Given the description of an element on the screen output the (x, y) to click on. 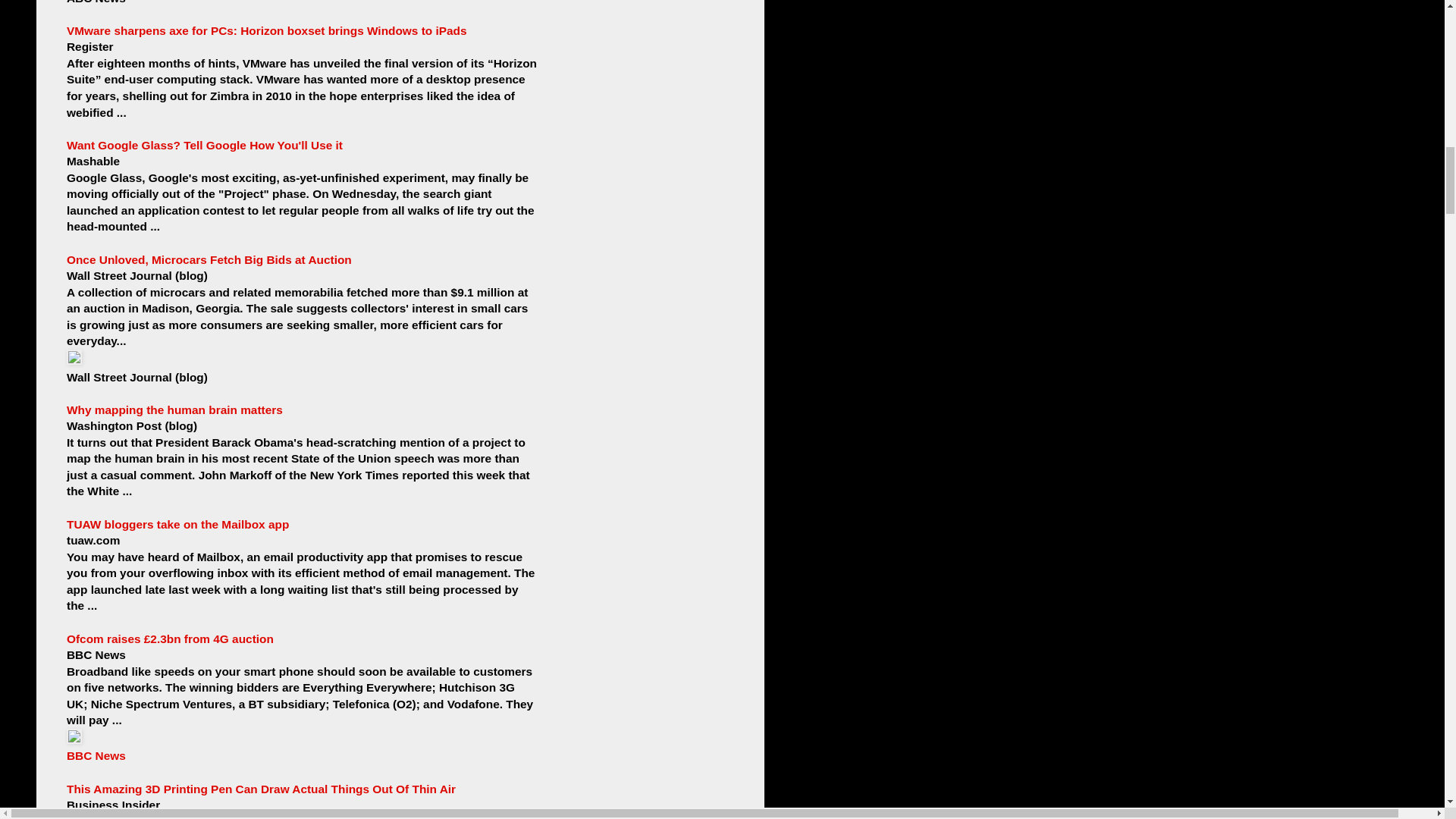
Want Google Glass? Tell Google How You'll Use it (204, 144)
TUAW bloggers take on the Mailbox app (177, 523)
Once Unloved, Microcars Fetch Big Bids at Auction (209, 259)
Why mapping the human brain matters (174, 409)
BBC News (95, 755)
